Given the description of an element on the screen output the (x, y) to click on. 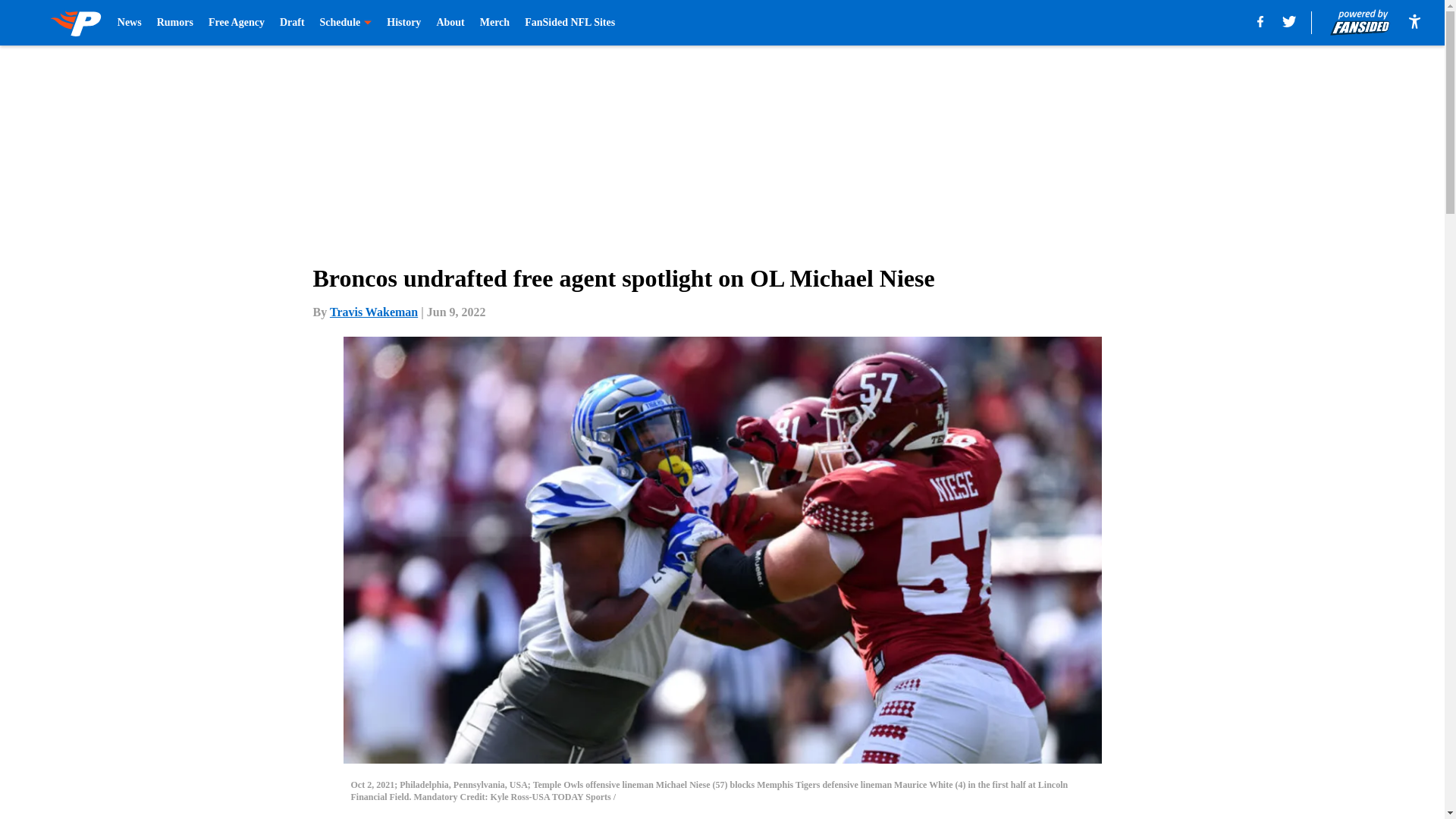
About (449, 22)
Travis Wakeman (373, 311)
History (403, 22)
News (129, 22)
Free Agency (236, 22)
Draft (291, 22)
Rumors (175, 22)
FanSided NFL Sites (569, 22)
Merch (494, 22)
